Given the description of an element on the screen output the (x, y) to click on. 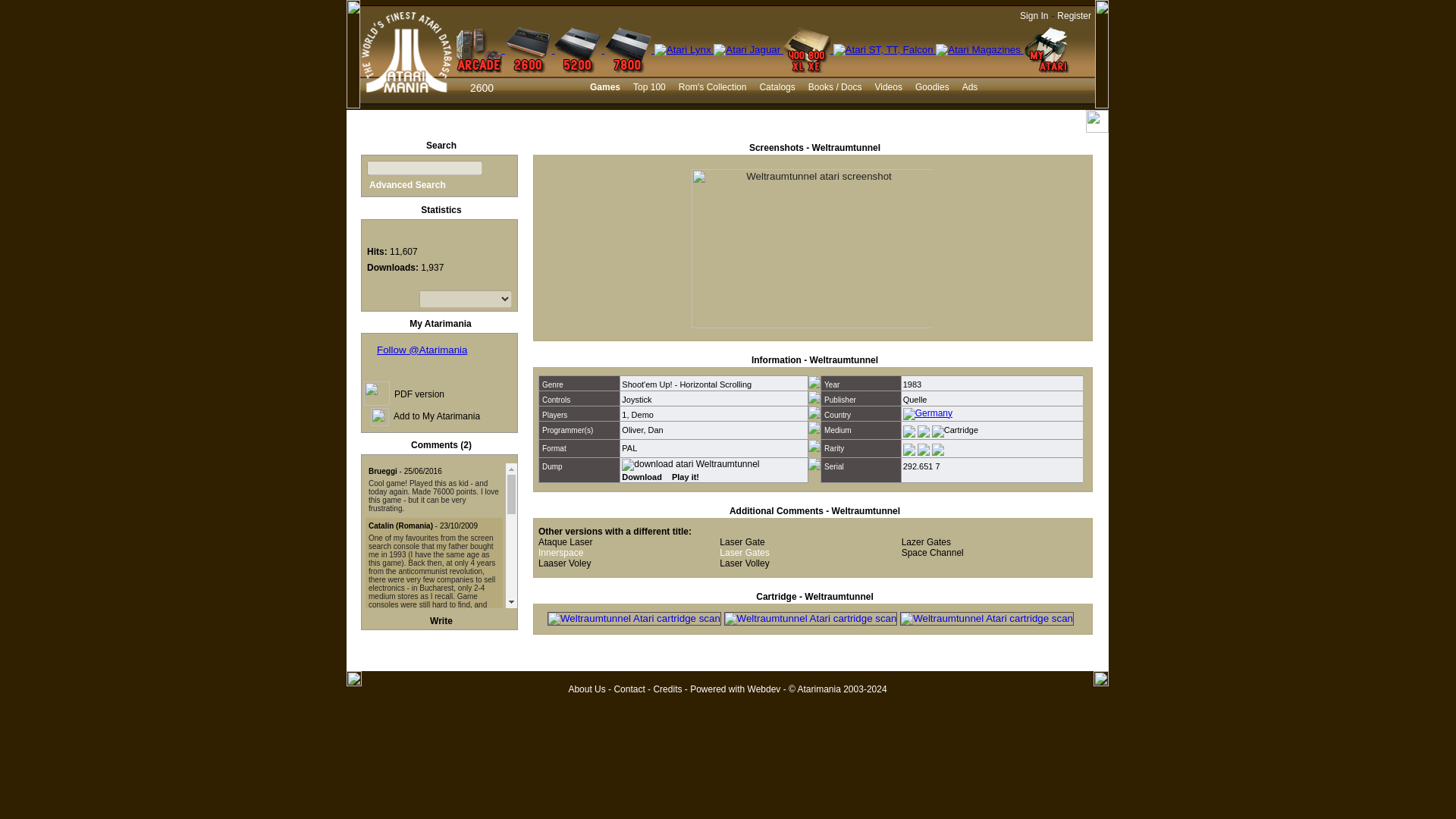
Play Atari VCS  (683, 476)
Quelle (914, 399)
Advanced Search (407, 184)
Add to My Atarimania (436, 416)
Write (440, 620)
PDF version (419, 394)
Atari 7800 (628, 49)
Atari Lynx (683, 49)
Videos (888, 87)
Sign In (1034, 15)
Atari 8bit (807, 49)
Germany (927, 413)
Atari Jaguar (748, 49)
Joystick (635, 399)
Ads (970, 87)
